Given the description of an element on the screen output the (x, y) to click on. 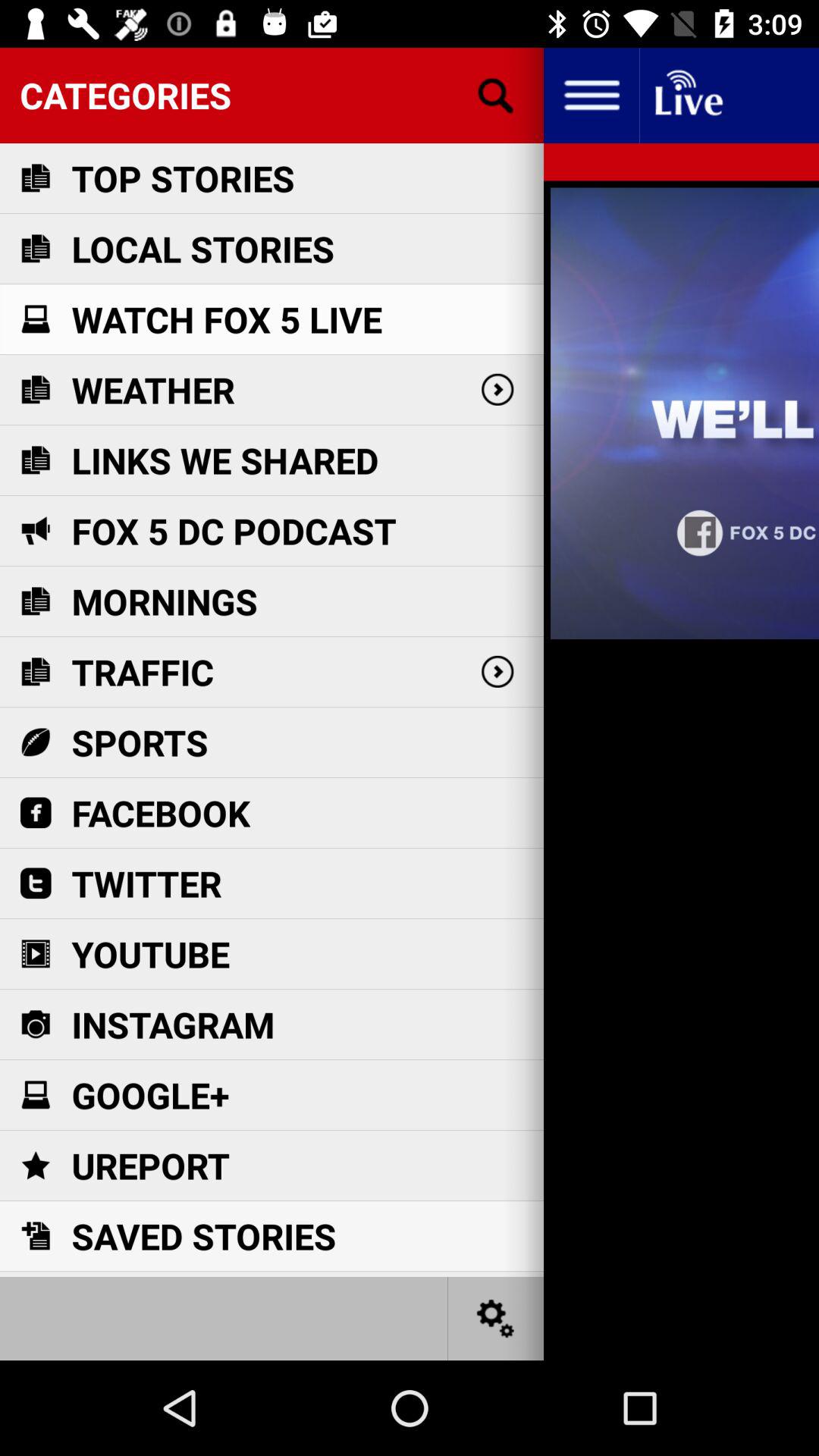
click item below sports (160, 812)
